Given the description of an element on the screen output the (x, y) to click on. 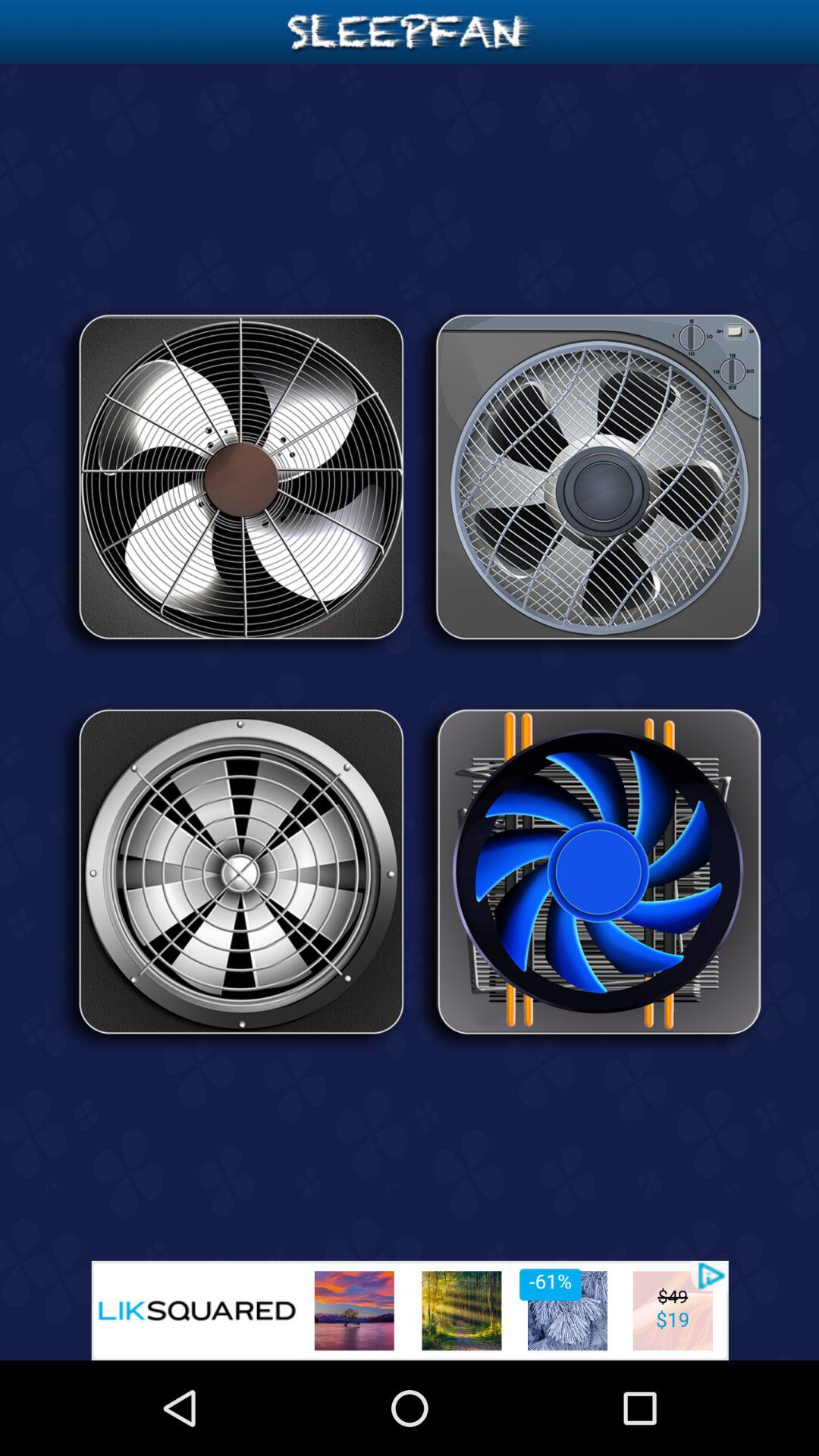
changes the rate and sound of the fan blowing (587, 877)
